Given the description of an element on the screen output the (x, y) to click on. 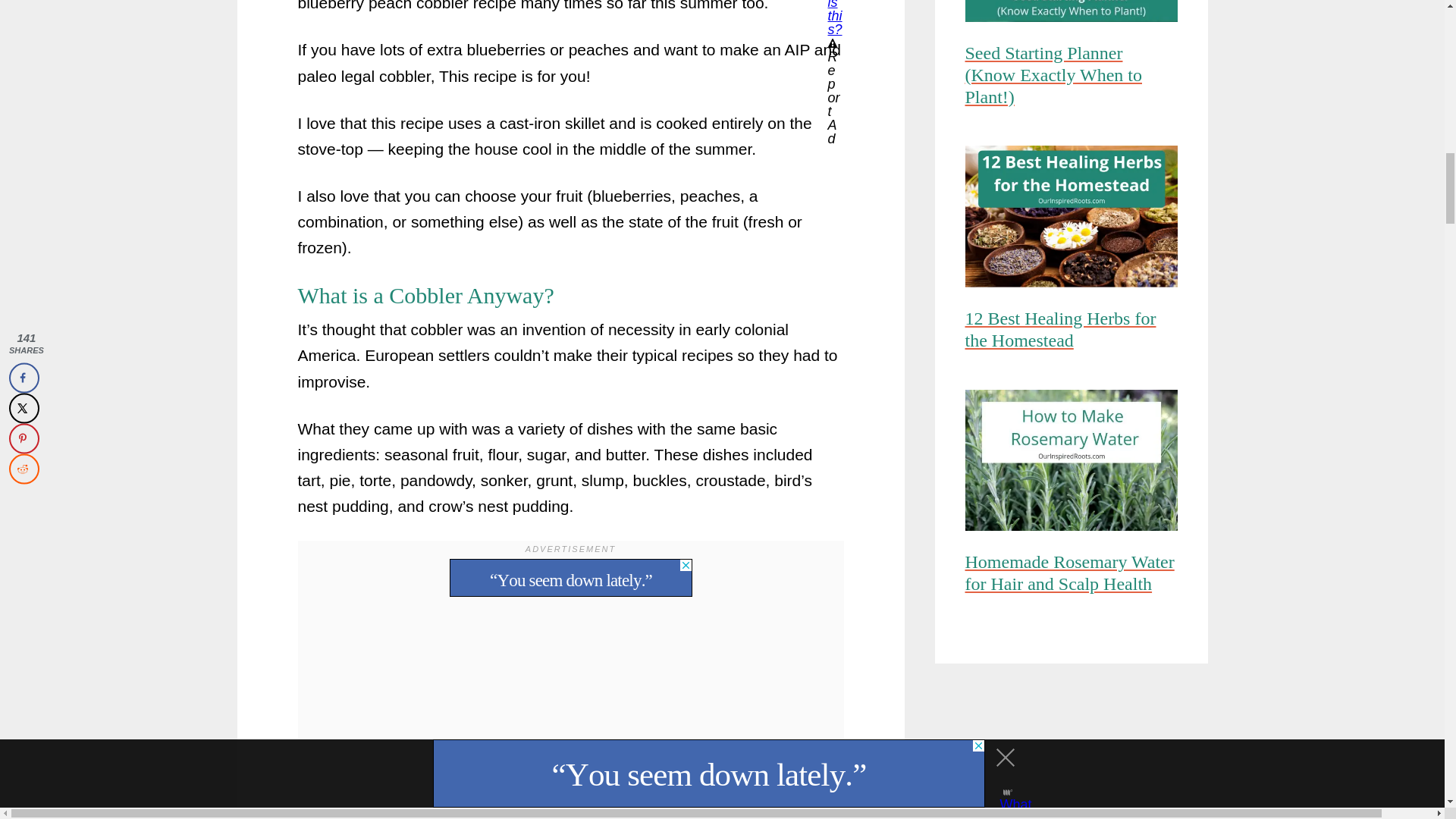
12 Best Healing Herbs for the Homestead (1069, 333)
3rd party ad content (569, 577)
3rd party ad content (1070, 748)
Homemade Rosemary Water for Hair and Scalp Health (1069, 463)
12 Best Healing Herbs for the Homestead (1069, 218)
Homemade Rosemary Water for Hair and Scalp Health (1069, 576)
